Given the description of an element on the screen output the (x, y) to click on. 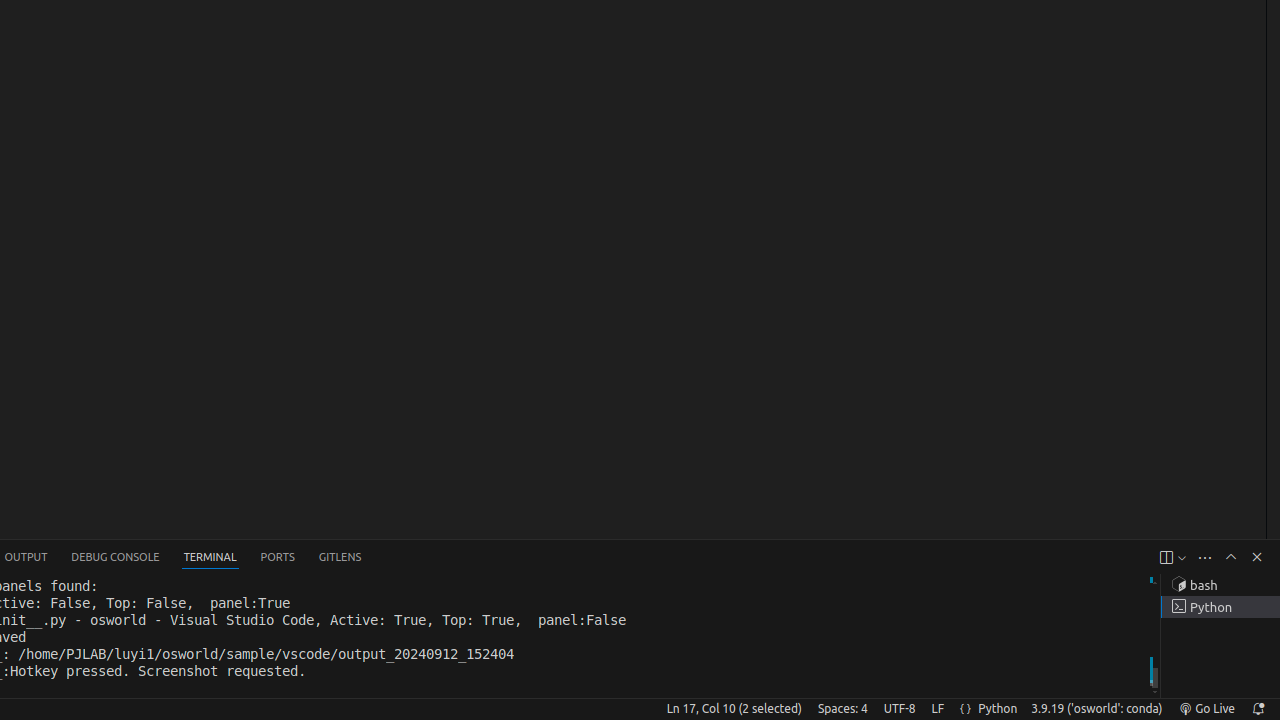
Editor Language Status: Auto Import Completions: false Element type: push-button (965, 709)
Spaces: 4 Element type: push-button (842, 709)
Notifications Element type: push-button (1258, 709)
GitLens Element type: page-tab (340, 557)
Views and More Actions... Element type: push-button (1205, 557)
